Given the description of an element on the screen output the (x, y) to click on. 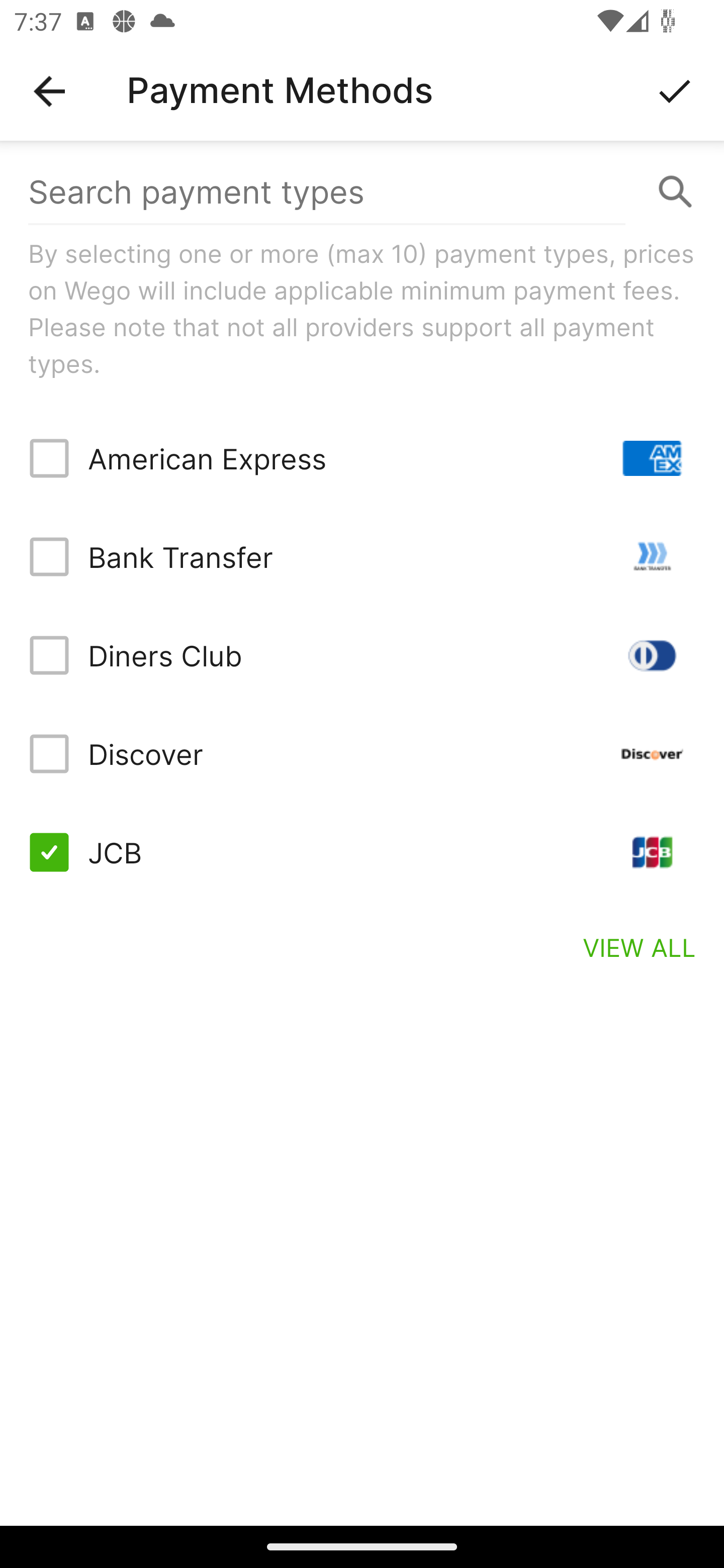
Search payment types  (361, 191)
American Express (362, 458)
Bank Transfer (362, 557)
Diners Club (362, 655)
Discover (362, 753)
JCB (362, 851)
VIEW ALL (639, 946)
